Given the description of an element on the screen output the (x, y) to click on. 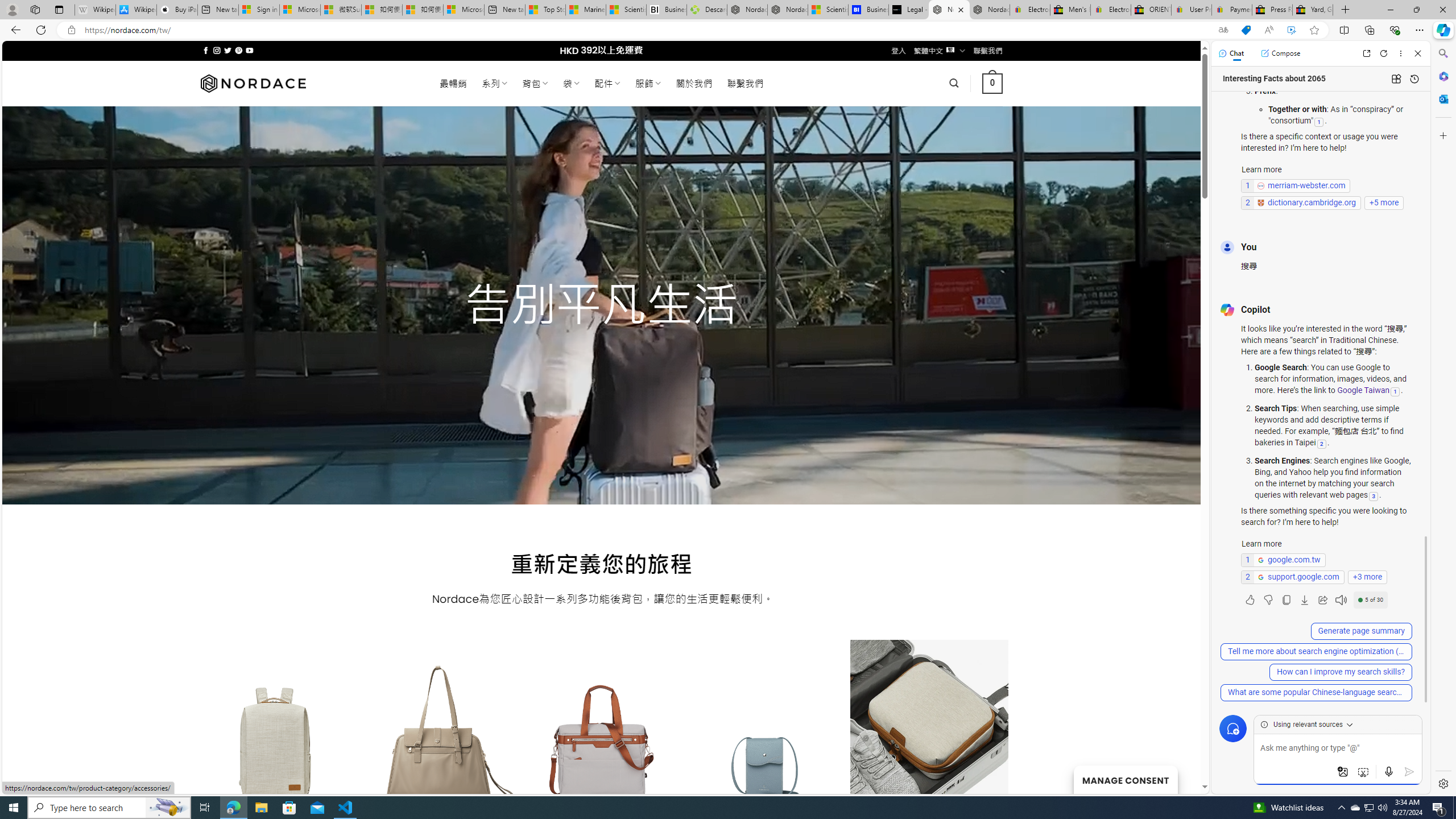
Chat (1231, 52)
User Privacy Notice | eBay (1191, 9)
Follow on Pinterest (237, 50)
